Given the description of an element on the screen output the (x, y) to click on. 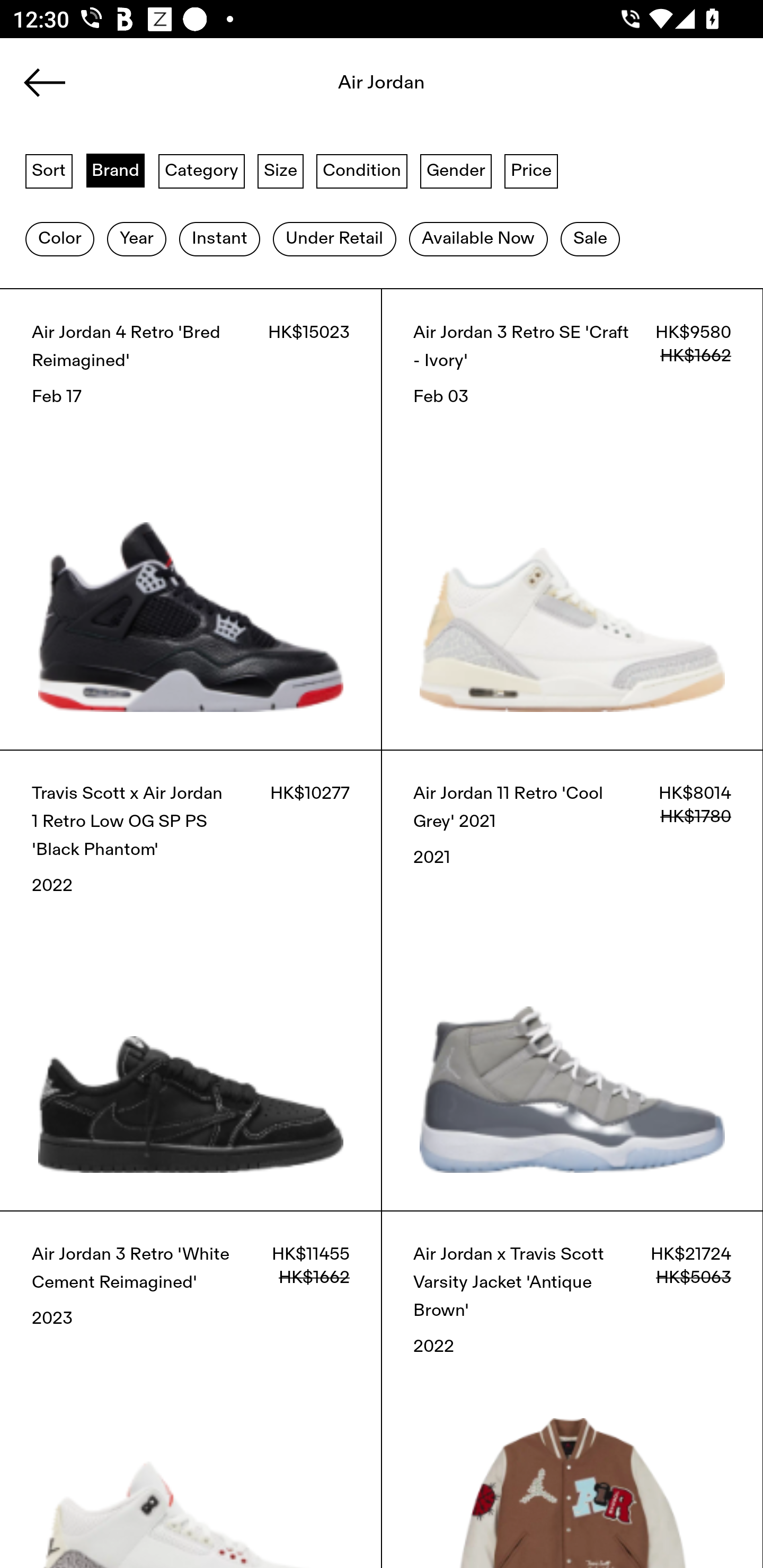
Sort (48, 170)
Brand (115, 170)
Category (201, 170)
Size (280, 170)
Condition (361, 170)
Gender (455, 170)
Price (530, 170)
Color (59, 239)
Year (136, 239)
Instant (219, 239)
Under Retail (334, 239)
Available Now (477, 239)
Sale (589, 239)
